Given the description of an element on the screen output the (x, y) to click on. 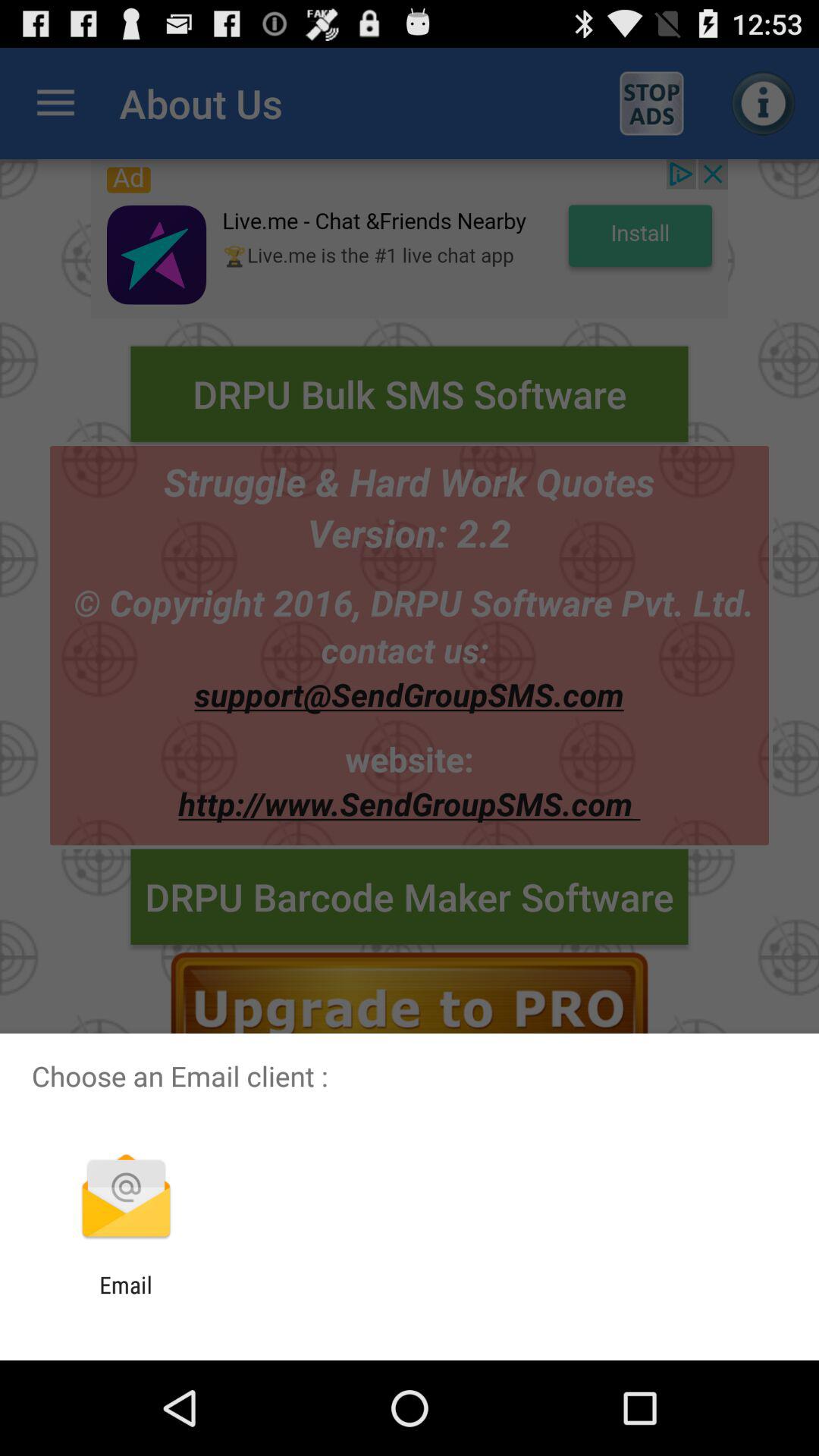
turn on the app above the email (126, 1198)
